Given the description of an element on the screen output the (x, y) to click on. 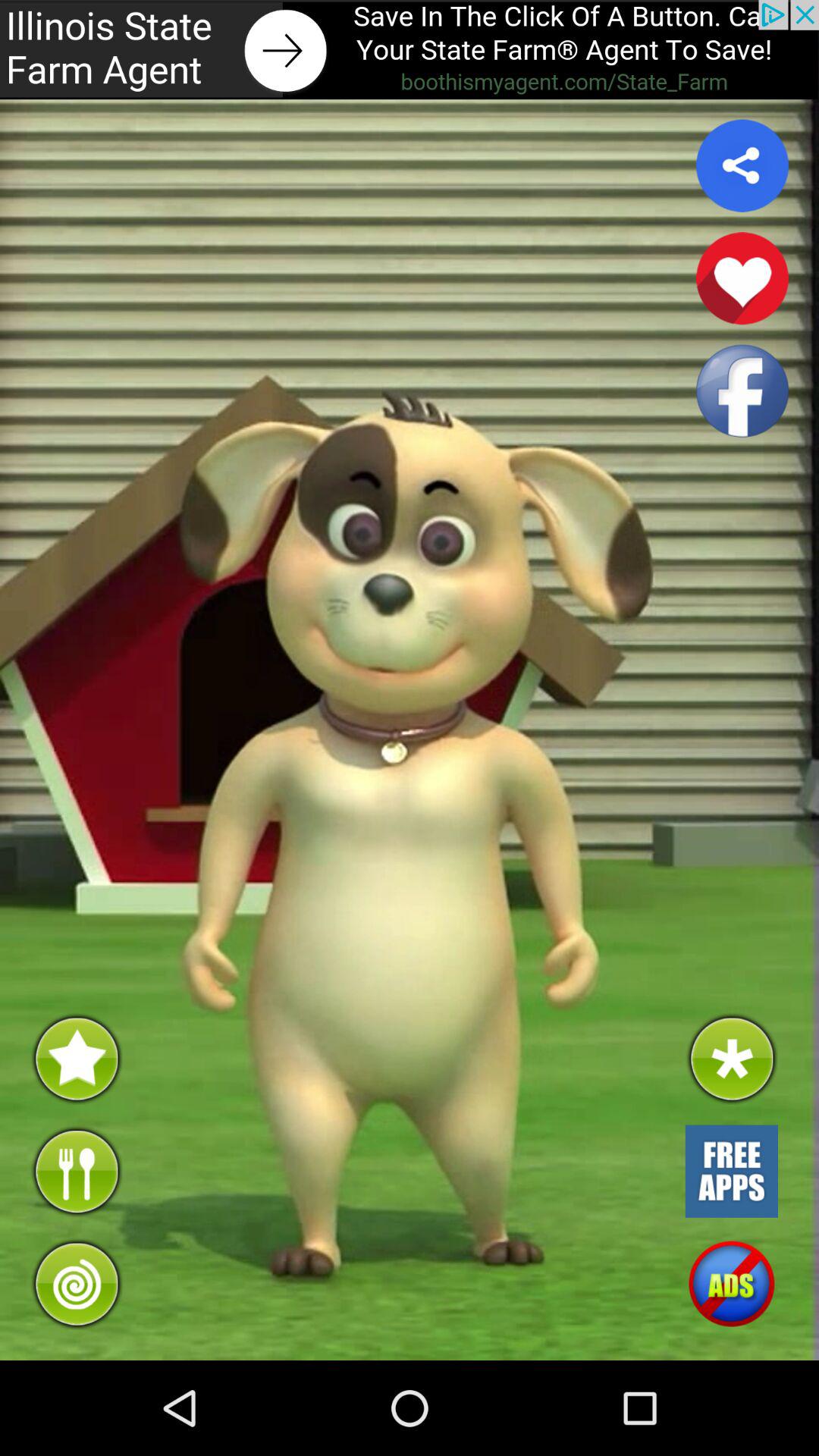
connect to facebook (742, 390)
